Given the description of an element on the screen output the (x, y) to click on. 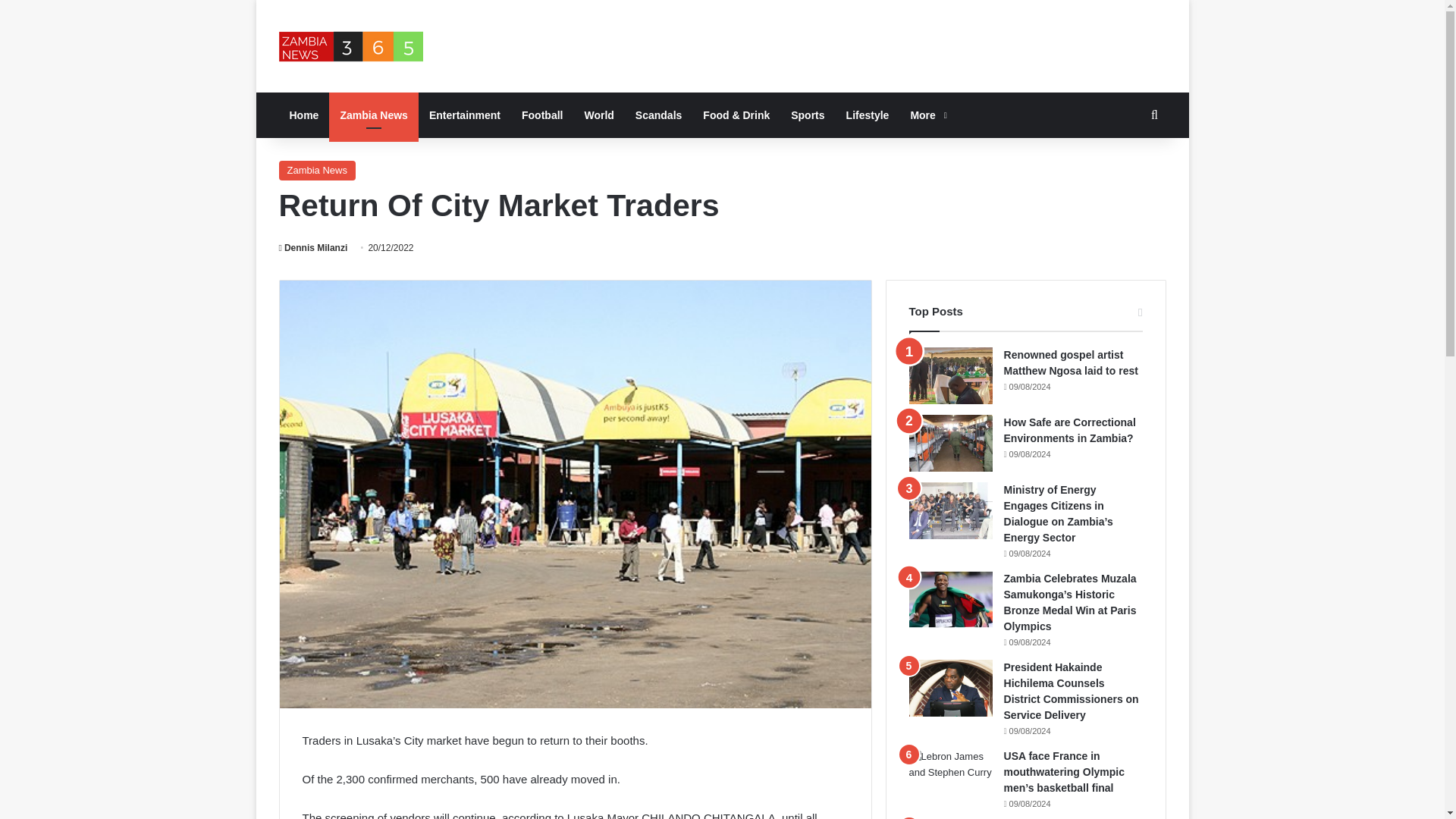
Dennis Milanzi (313, 247)
Sports (807, 115)
Zambia News365 (351, 46)
Lifestyle (867, 115)
Scandals (658, 115)
More (926, 115)
Home (304, 115)
Football (542, 115)
Zambia News (317, 170)
Dennis Milanzi (313, 247)
